Given the description of an element on the screen output the (x, y) to click on. 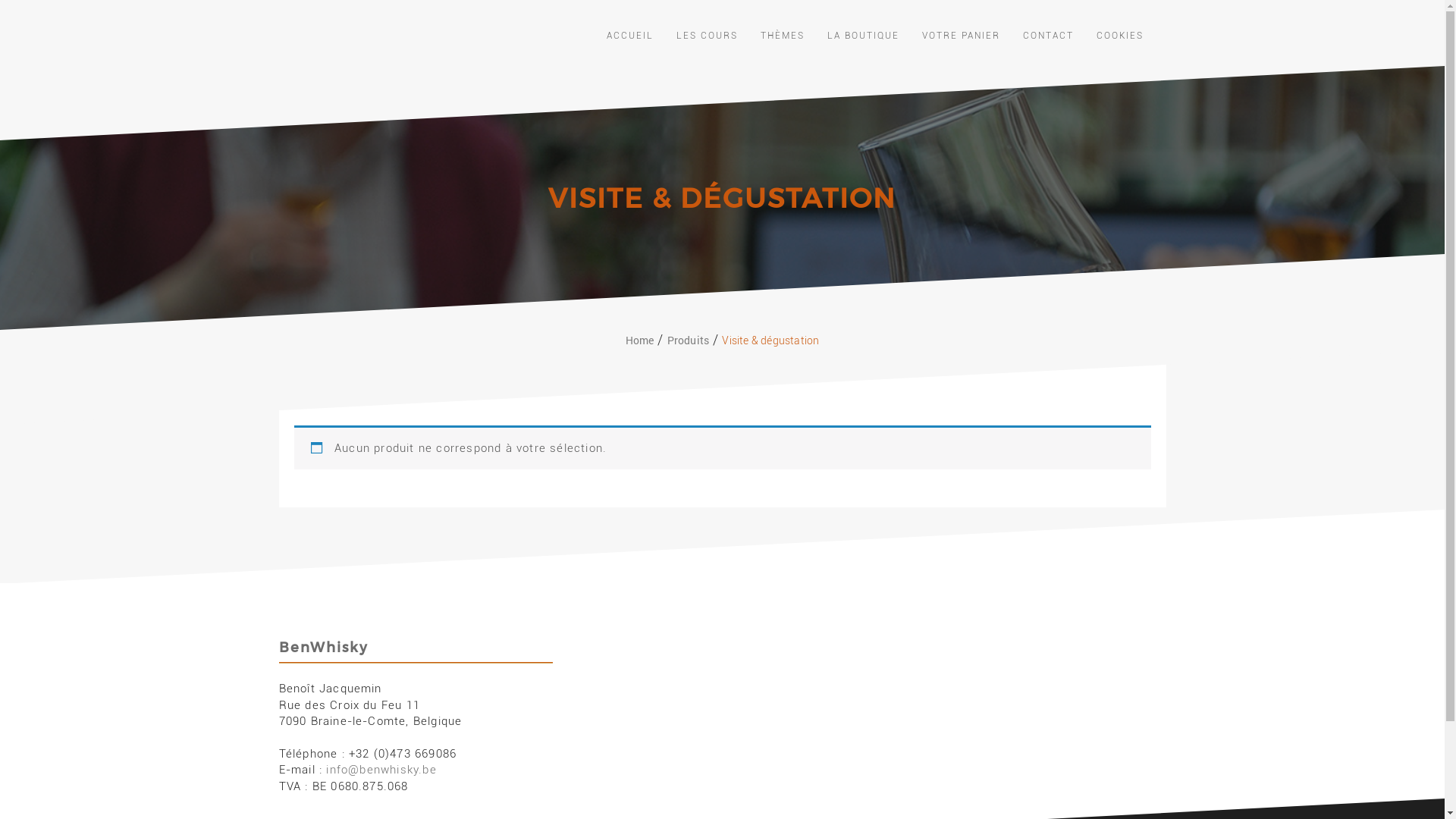
ACCUEIL Element type: text (629, 35)
COOKIES Element type: text (1119, 35)
VOTRE PANIER Element type: text (961, 35)
LES COURS Element type: text (706, 35)
LA BOUTIQUE Element type: text (862, 35)
info@benwhisky.be Element type: text (381, 769)
Produits Element type: text (688, 339)
CONTACT Element type: text (1047, 35)
Home Element type: text (639, 339)
